Given the description of an element on the screen output the (x, y) to click on. 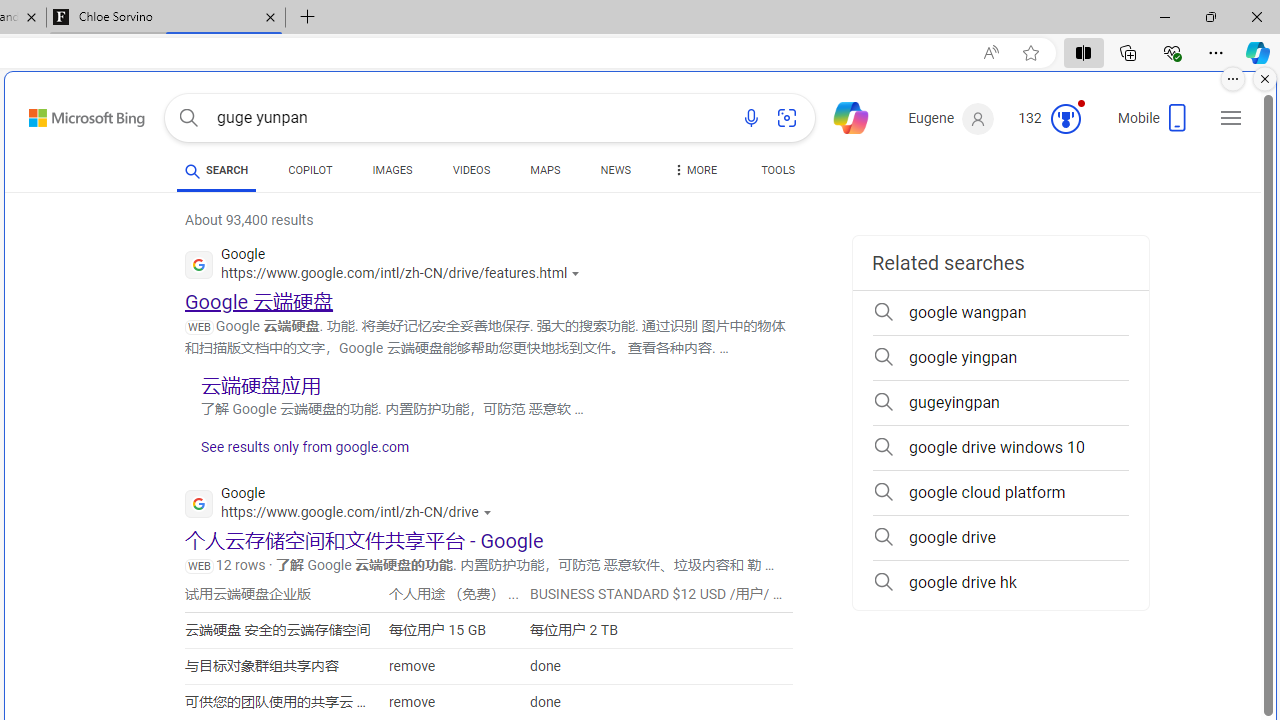
Mobile (1154, 124)
Global web icon (198, 503)
google drive (1000, 538)
IMAGES (392, 173)
TOOLS (777, 173)
Skip to content (65, 111)
google drive hk (1000, 582)
Copilot (Ctrl+Shift+.) (1258, 52)
COPILOT (310, 170)
Actions for this site (489, 512)
Google (343, 506)
Search using voice (751, 117)
MAPS (545, 173)
Close tab (270, 16)
